Given the description of an element on the screen output the (x, y) to click on. 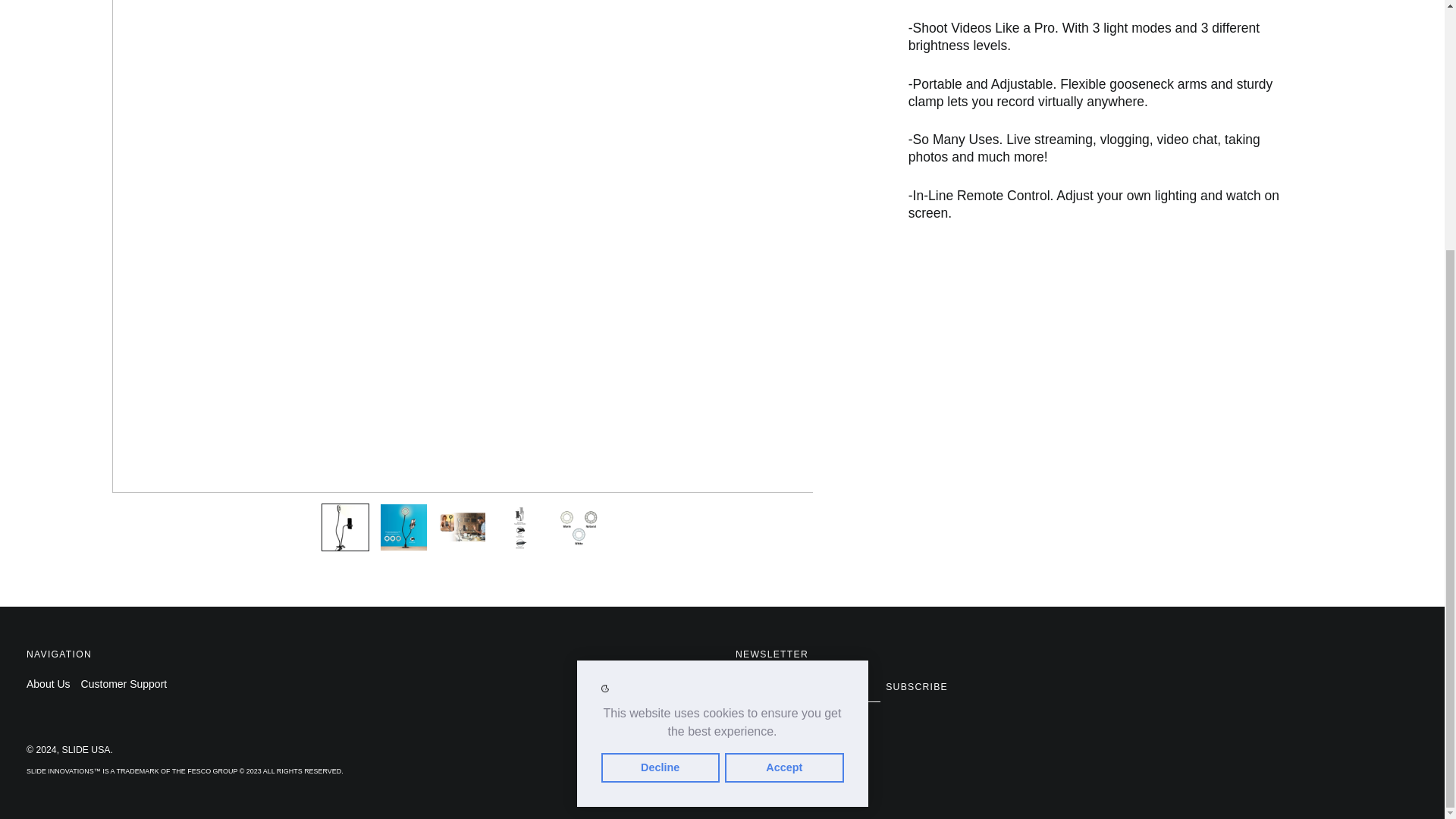
SUBSCRIBE (916, 686)
Accept (784, 417)
SLIDE USA (86, 749)
About Us (47, 684)
Decline (659, 417)
Customer Support (124, 684)
